Given the description of an element on the screen output the (x, y) to click on. 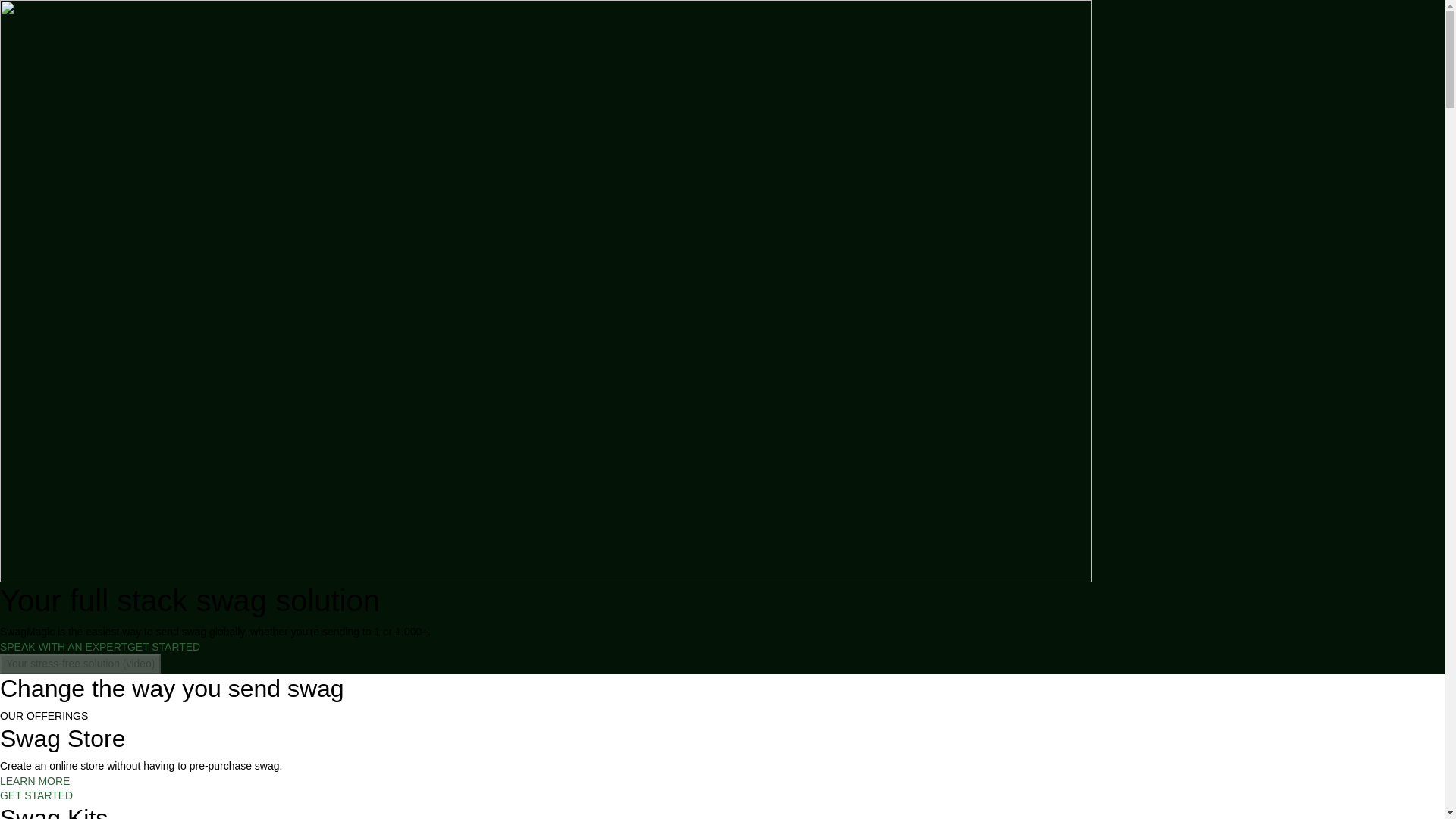
GET STARTED (164, 646)
LEARN MORE (34, 780)
GET STARTED (36, 795)
SPEAK WITH AN EXPERT (64, 646)
